Given the description of an element on the screen output the (x, y) to click on. 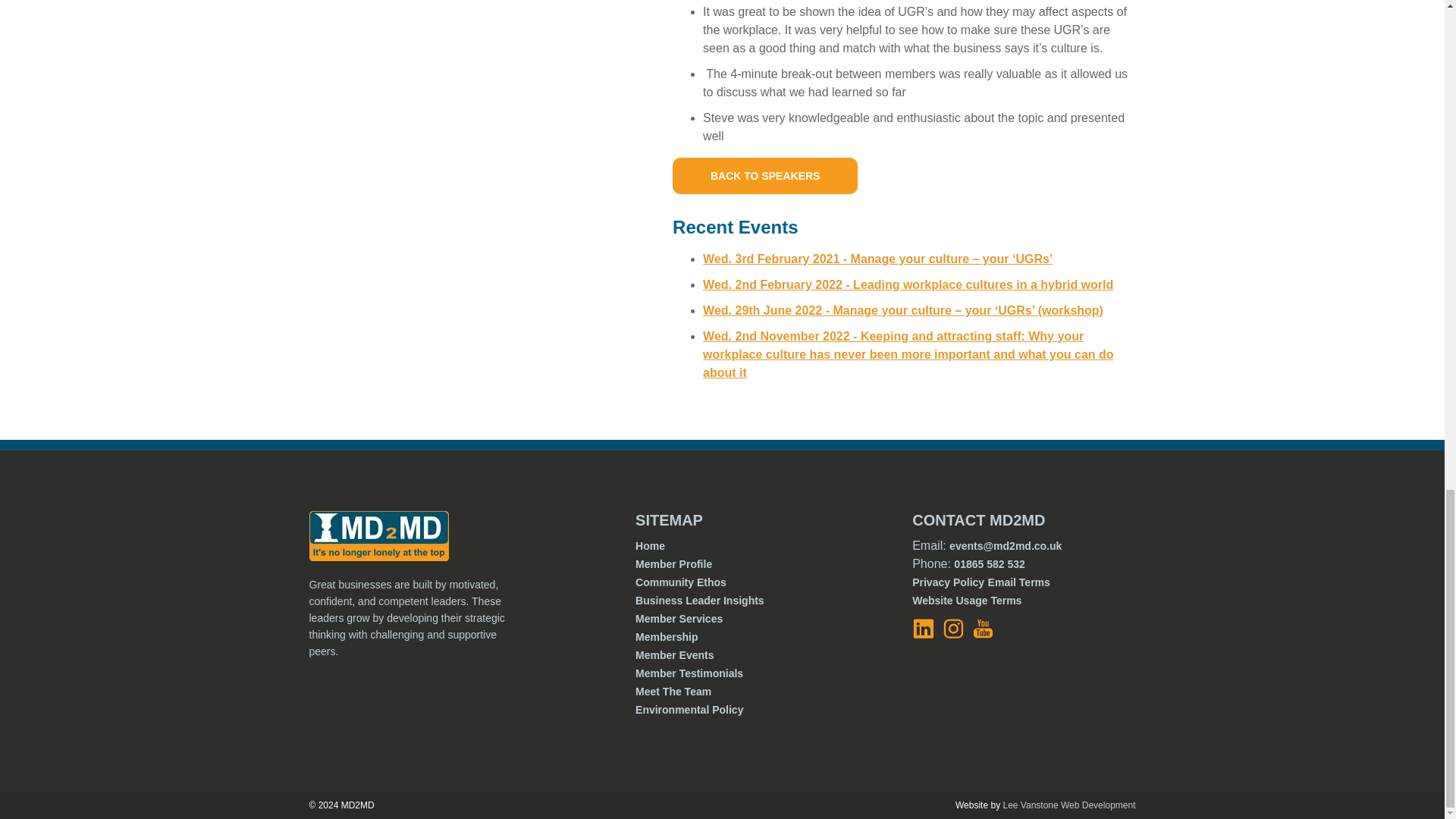
Business Leader Insights (699, 600)
Environmental Policy (688, 709)
Community Ethos (680, 582)
Meet The Team (672, 691)
Member Profile (672, 563)
Home (649, 545)
Membership (665, 636)
Member Services (678, 618)
Member Events (673, 654)
Member Testimonials (688, 673)
BACK TO SPEAKERS (764, 176)
